Given the description of an element on the screen output the (x, y) to click on. 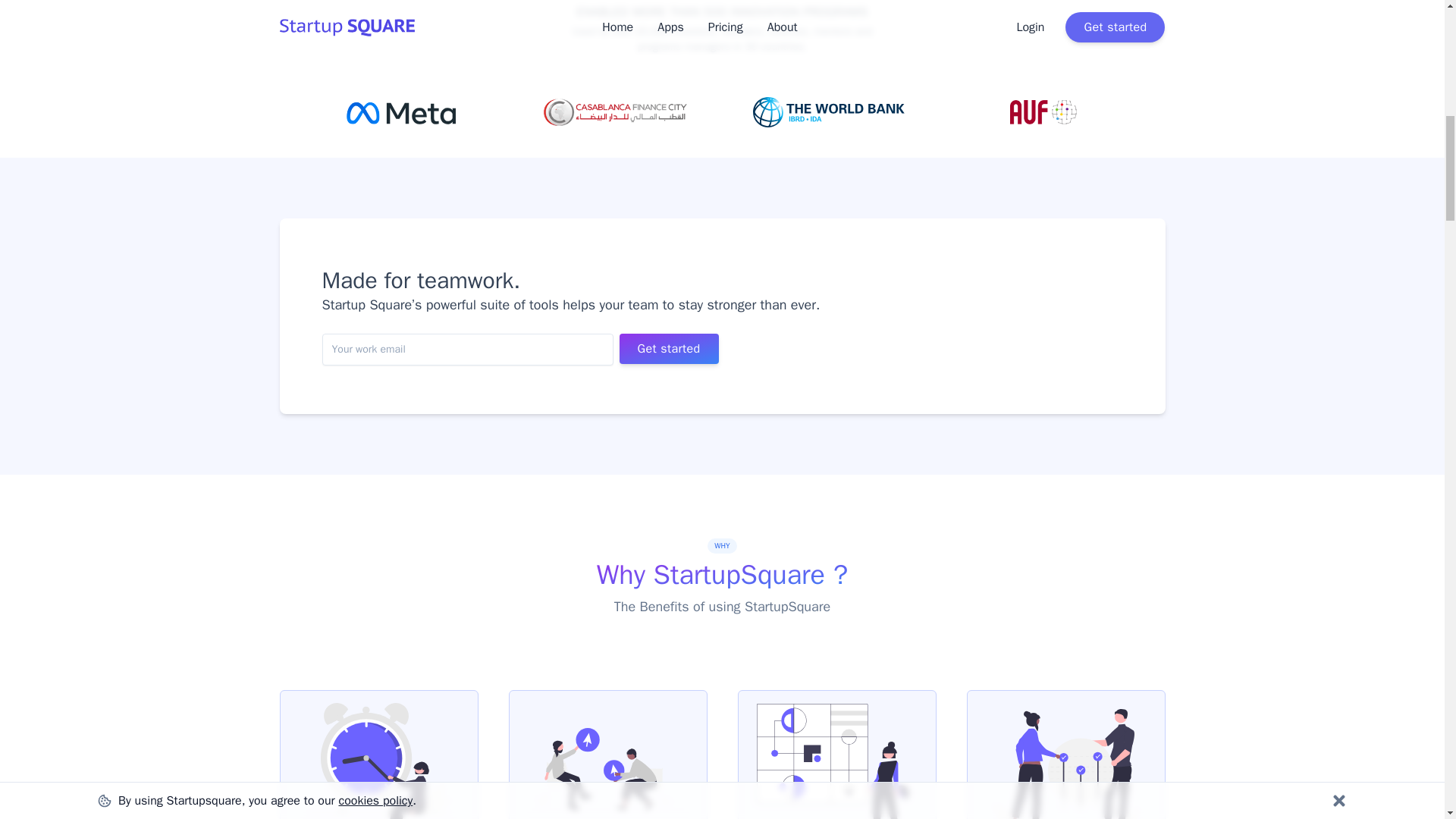
Get started (667, 348)
